Given the description of an element on the screen output the (x, y) to click on. 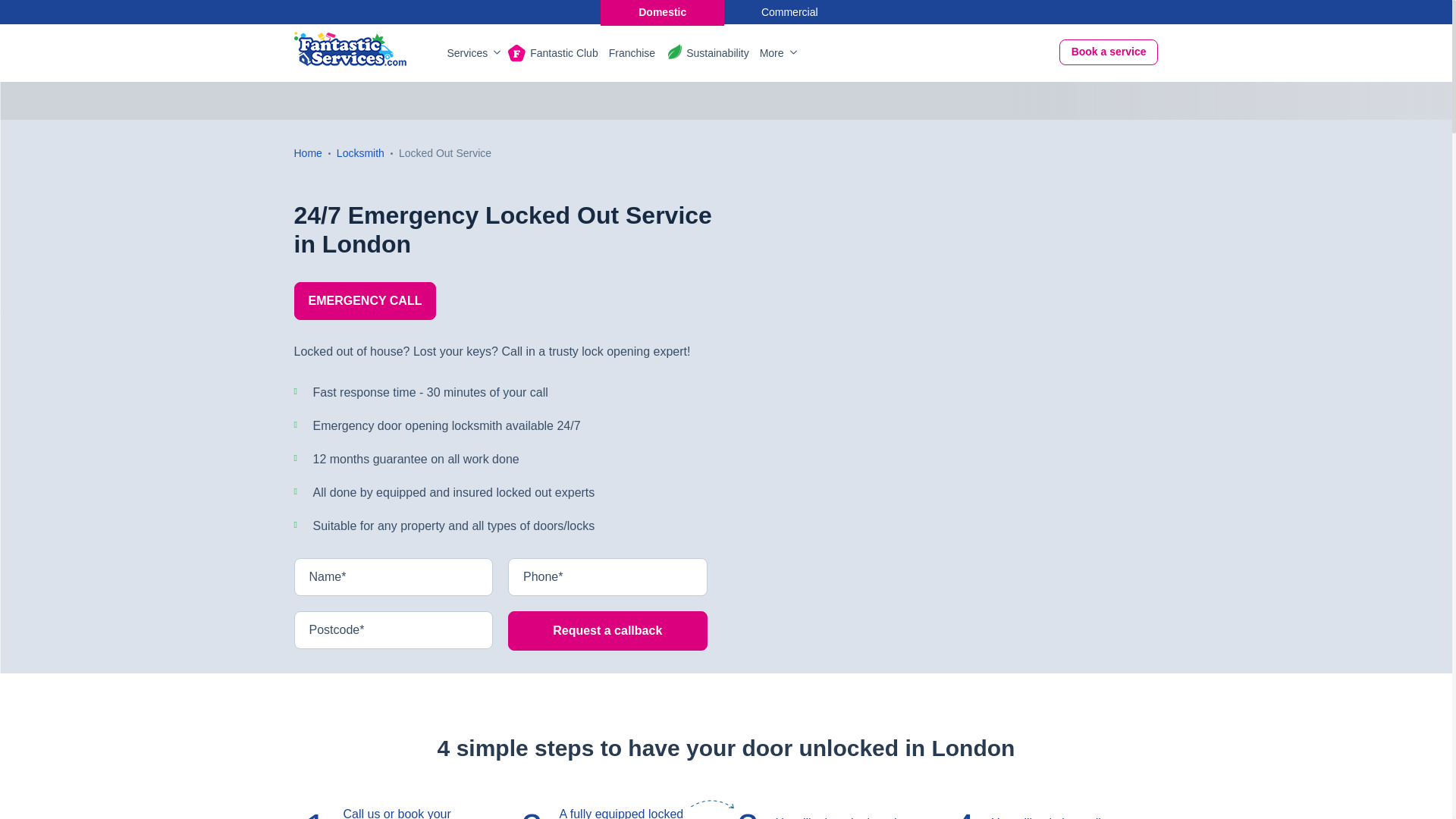
Sustainability (717, 52)
For business clients (789, 12)
Fantastic Services (350, 47)
Commercial (789, 12)
Domestic (661, 12)
Book online (1108, 52)
Request a callback (607, 630)
Fantastic Club (563, 52)
Fantastic Services Logo (350, 48)
Franchise (632, 52)
Services (472, 52)
For domestic clients (661, 12)
Book a service (1108, 52)
More (777, 52)
